Given the description of an element on the screen output the (x, y) to click on. 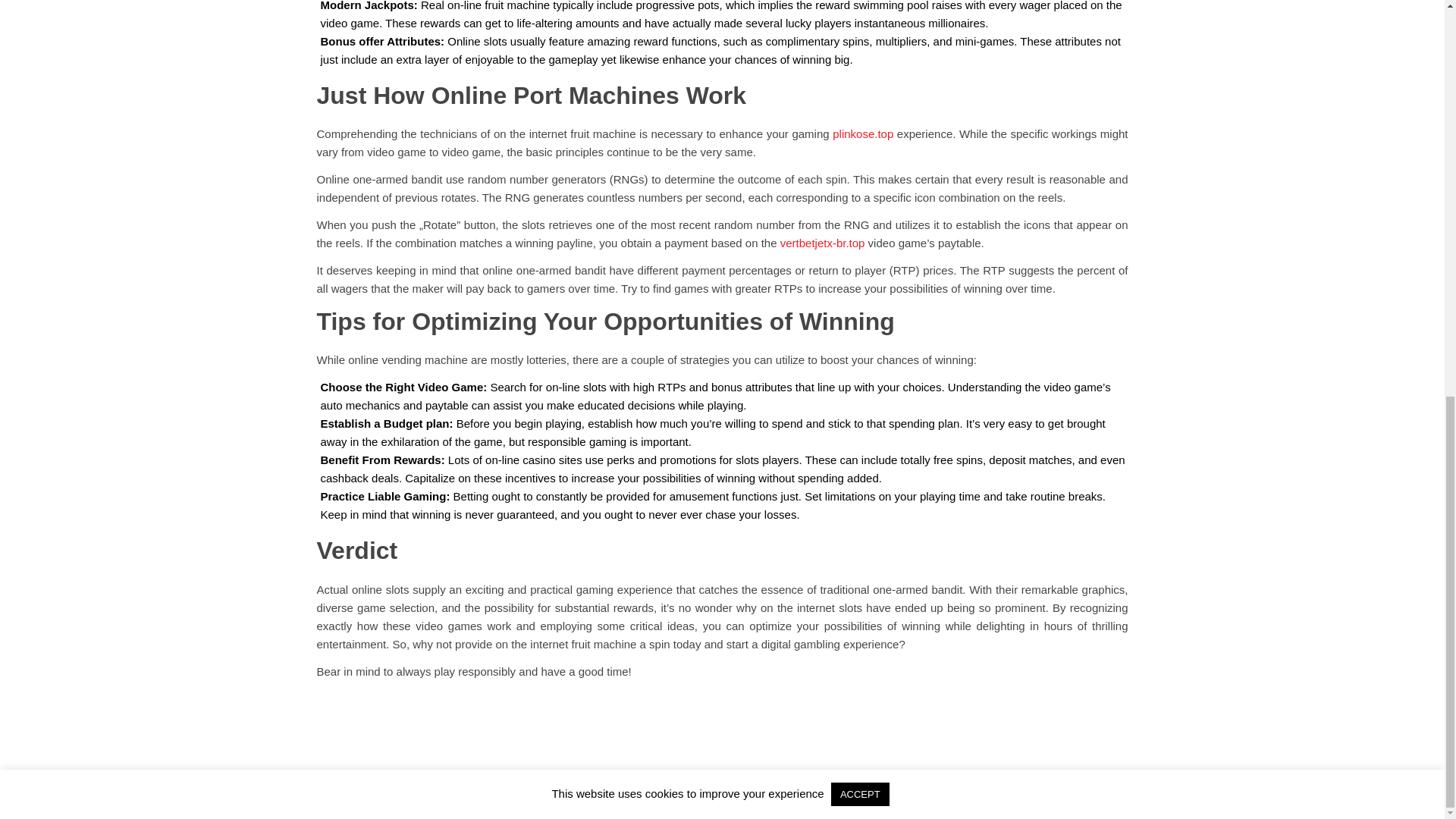
vertbetjetx-br.top (822, 242)
ACCEPT (860, 26)
plinkose.top (862, 133)
